Given the description of an element on the screen output the (x, y) to click on. 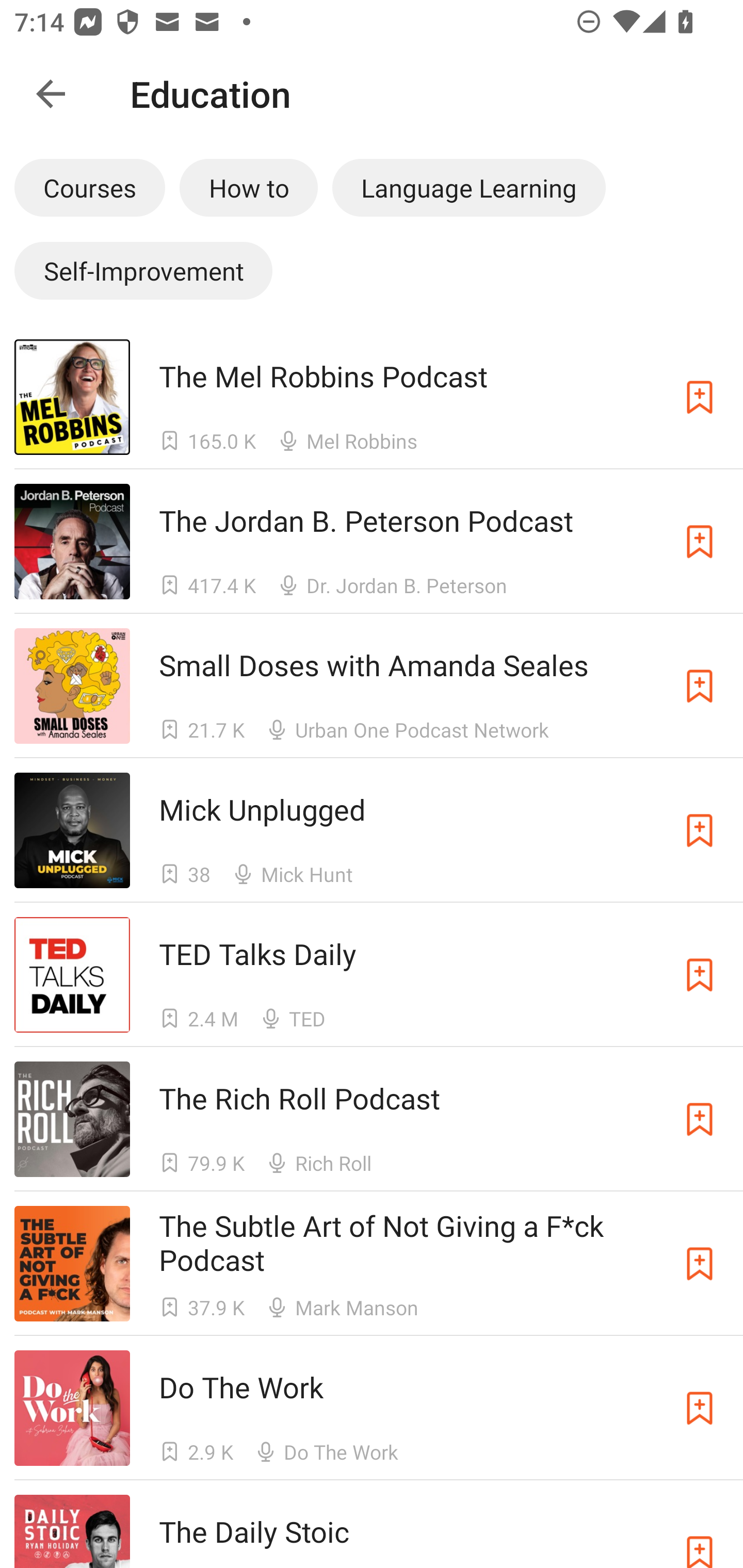
Navigate up (50, 93)
Courses (89, 187)
How to (248, 187)
Language Learning (468, 187)
Self-Improvement (143, 270)
Subscribe (699, 396)
Subscribe (699, 541)
Subscribe (699, 685)
Subscribe (699, 830)
Subscribe (699, 975)
Subscribe (699, 1119)
Subscribe (699, 1263)
Subscribe (699, 1408)
The Daily Stoic The Daily Stoic Subscribe (371, 1524)
Subscribe (699, 1531)
